Given the description of an element on the screen output the (x, y) to click on. 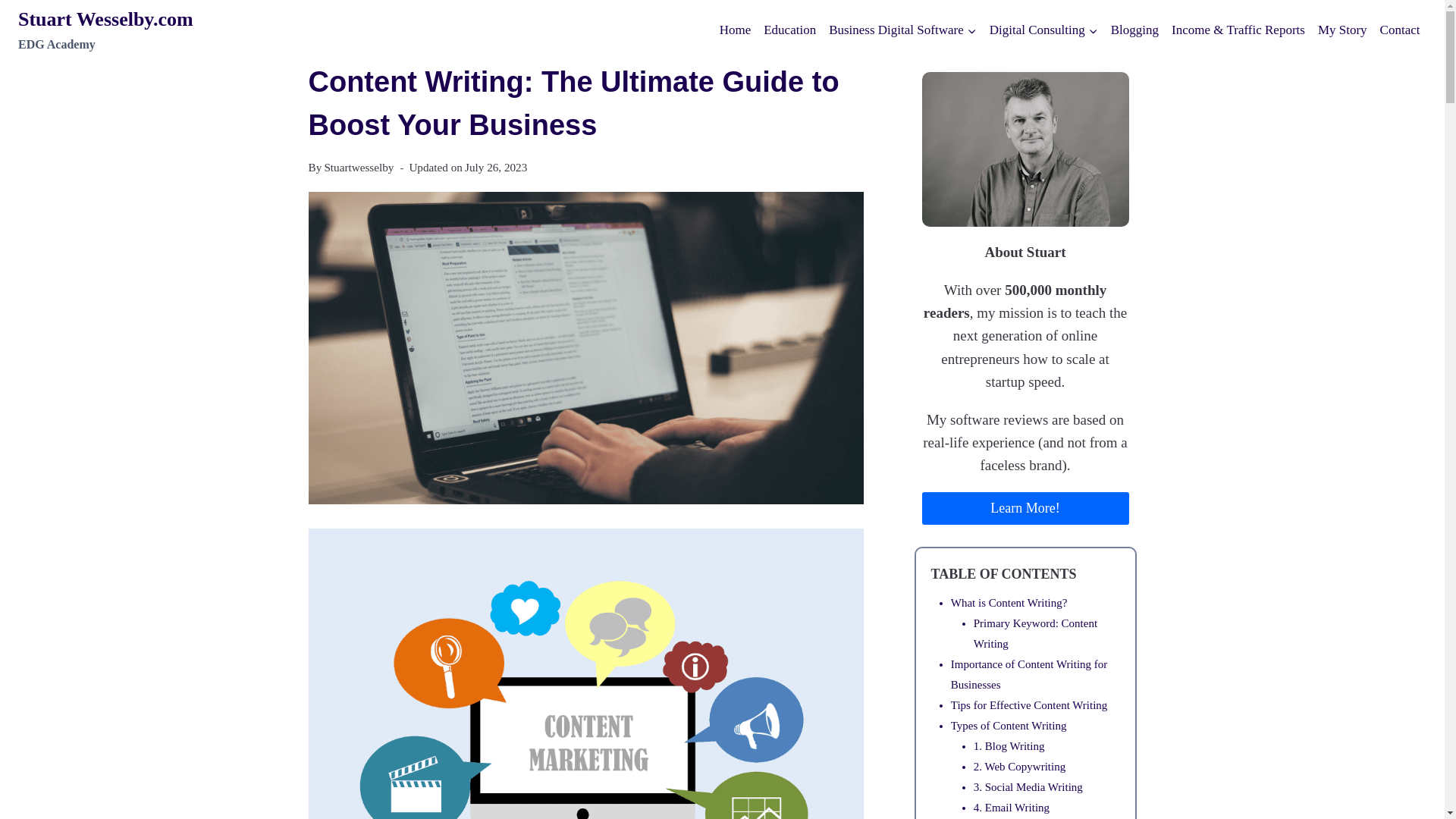
My Story (1342, 30)
Education (789, 30)
Blogging (1133, 30)
Business Digital Software (903, 30)
Contact (1399, 30)
Digital Consulting (1042, 30)
Content Writing: The Ultimate Guide to Boost Your Business 1 (105, 30)
